Given the description of an element on the screen output the (x, y) to click on. 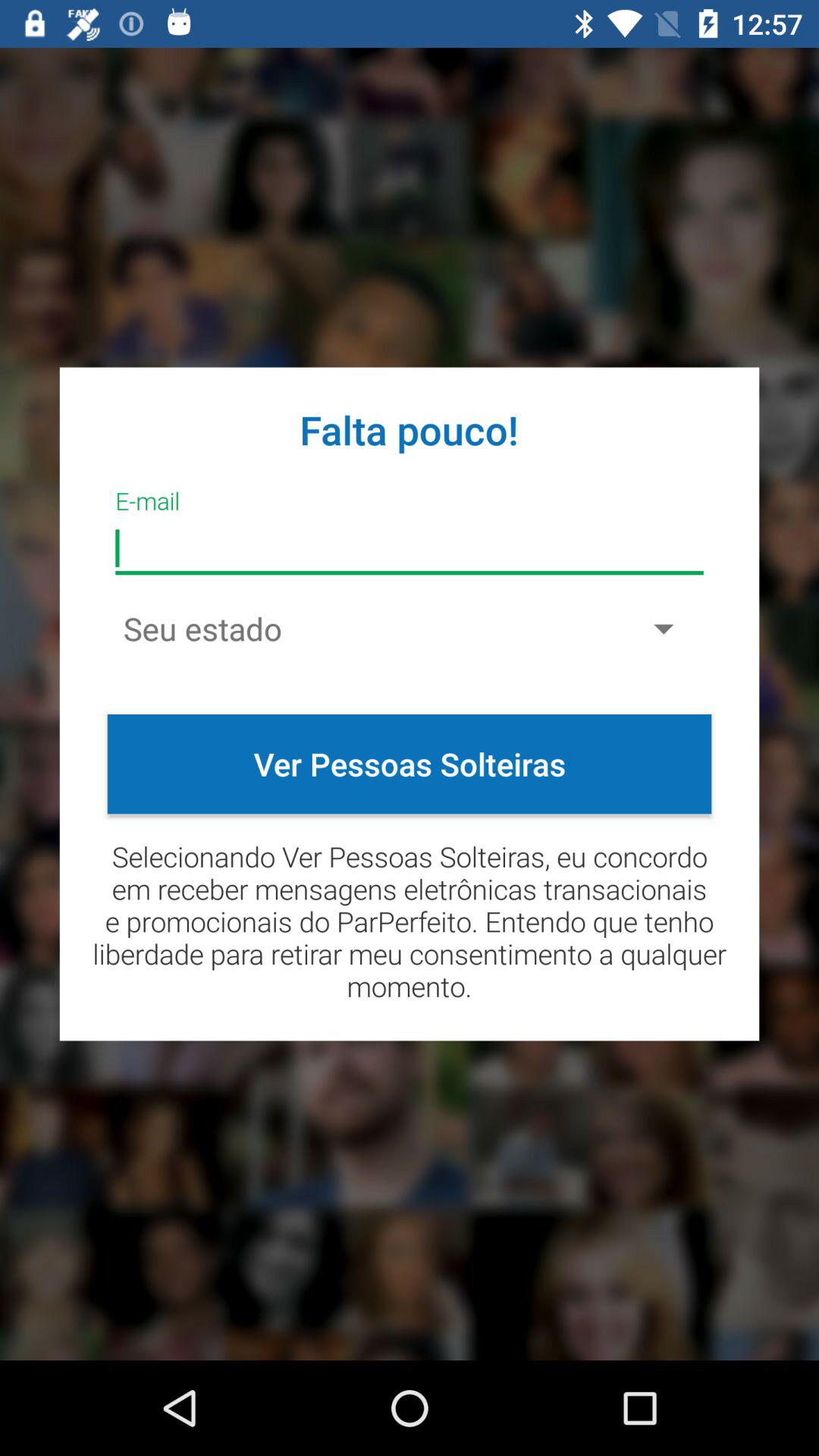
fill the email id (409, 548)
